Given the description of an element on the screen output the (x, y) to click on. 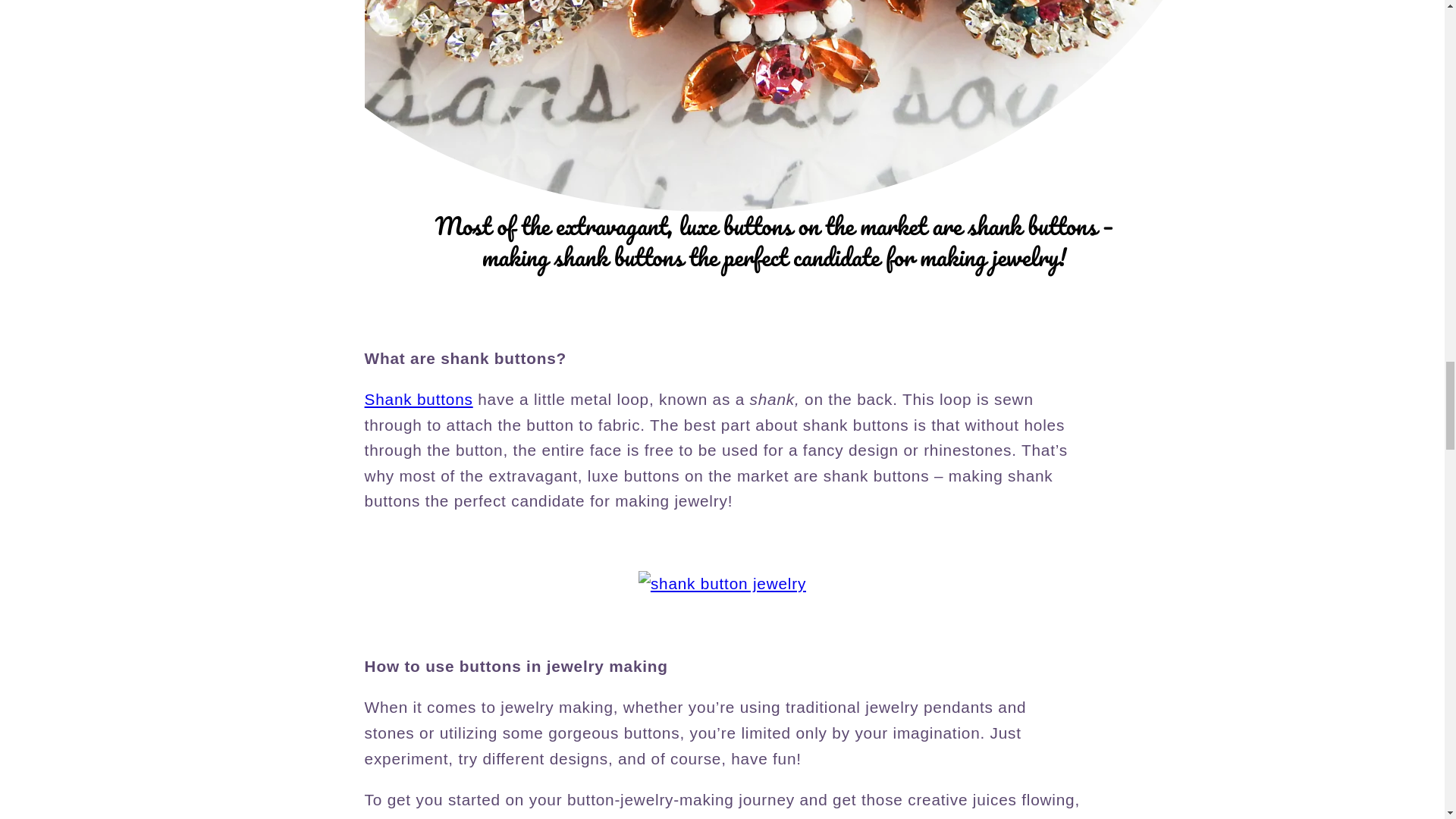
  best place to buy buttons online (419, 398)
fancy buttons (722, 583)
Buttons with shanks for jewelry (774, 275)
